Given the description of an element on the screen output the (x, y) to click on. 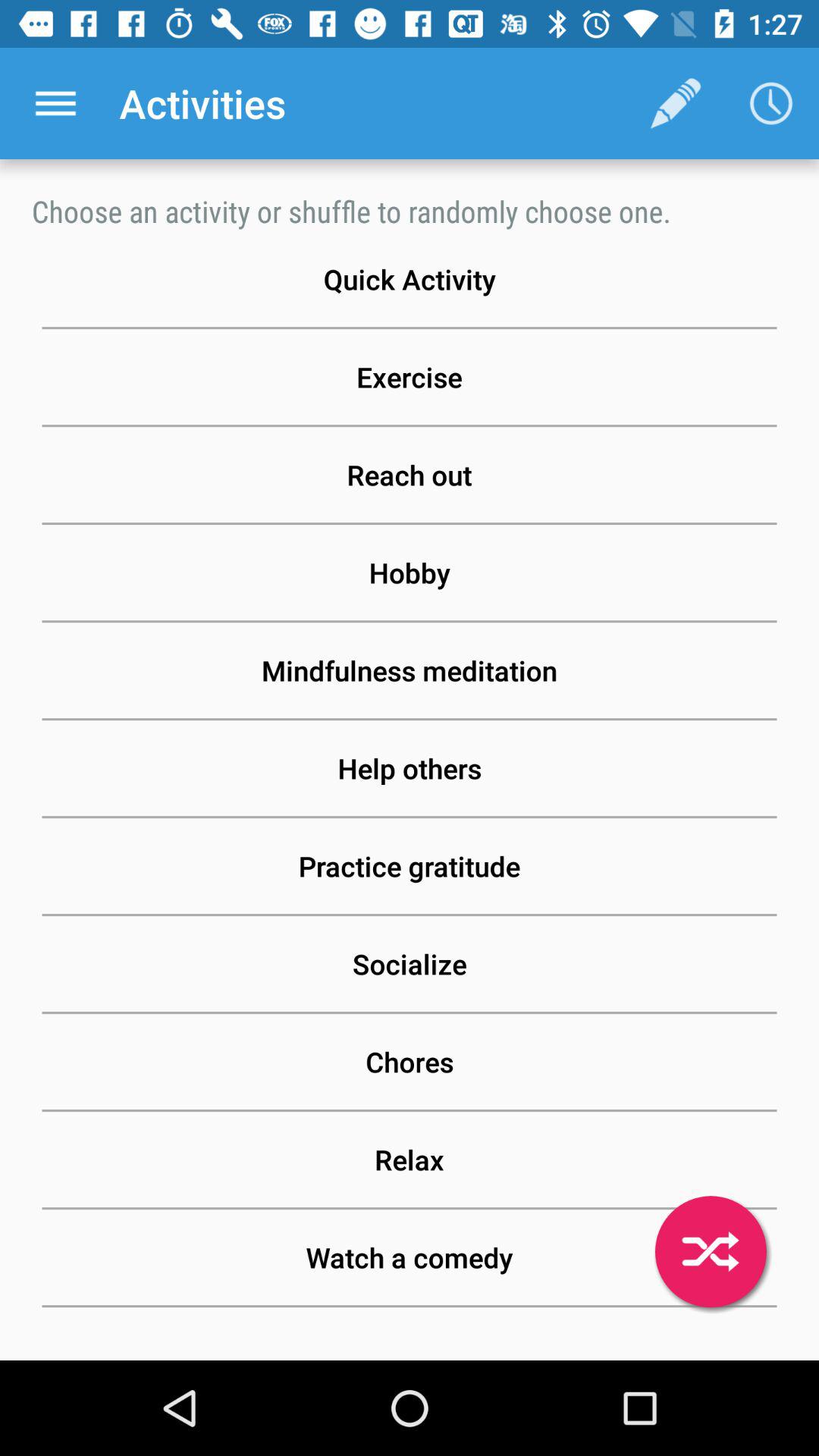
scroll to mindfulness meditation item (409, 670)
